Given the description of an element on the screen output the (x, y) to click on. 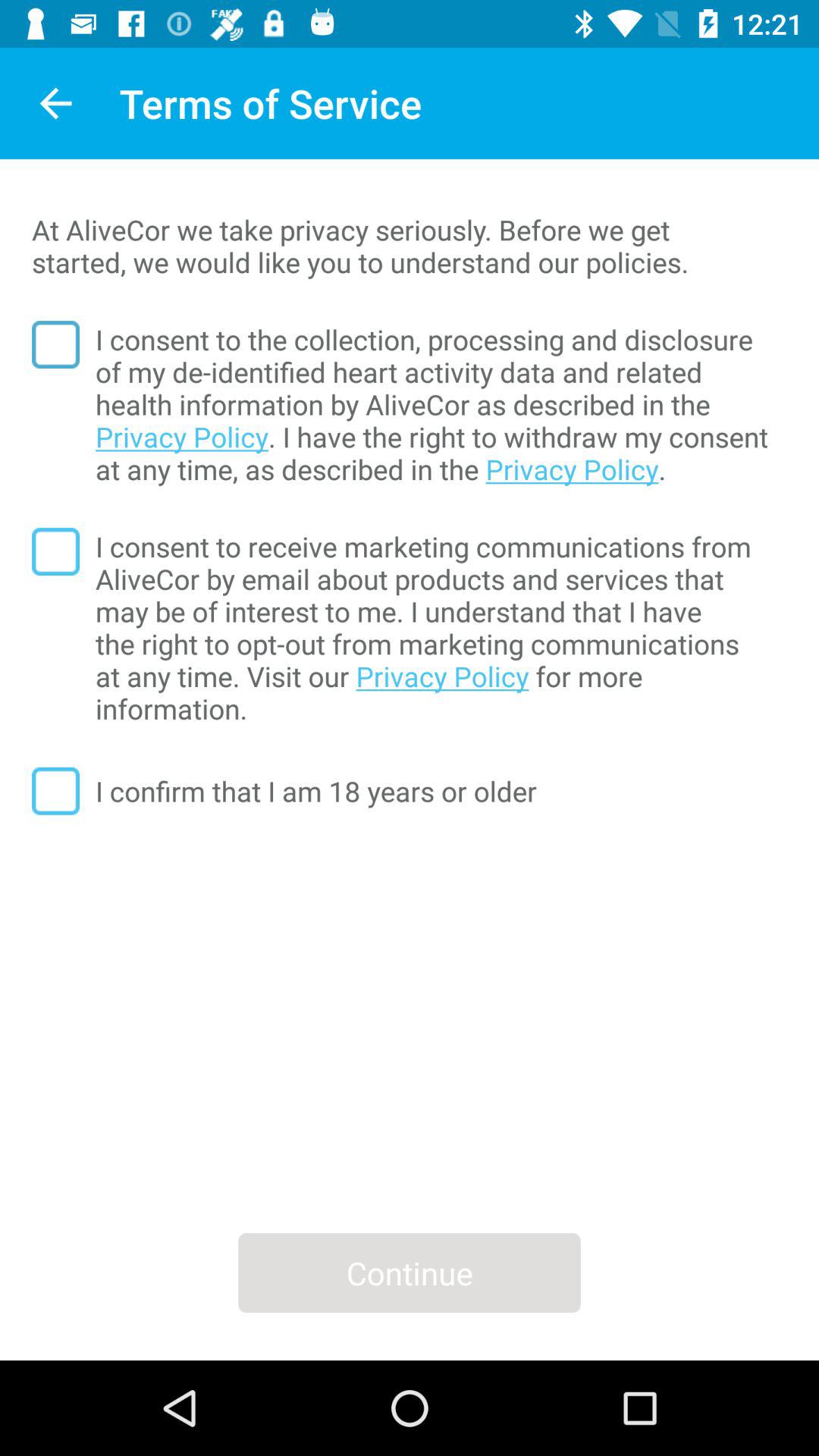
turn on the app to the left of terms of service icon (55, 103)
